Given the description of an element on the screen output the (x, y) to click on. 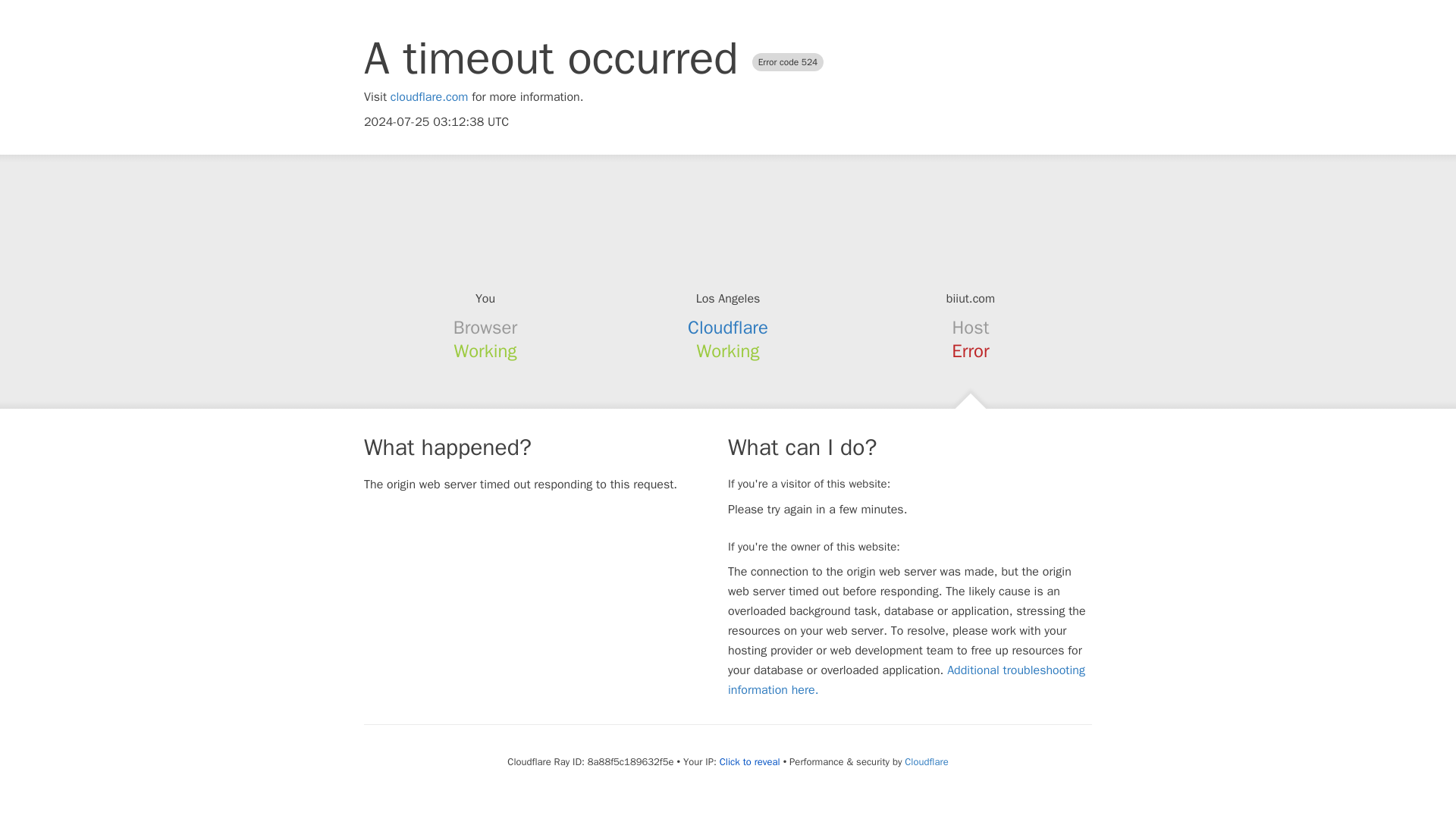
Cloudflare (925, 761)
Cloudflare (727, 327)
cloudflare.com (429, 96)
Click to reveal (749, 762)
Additional troubleshooting information here. (906, 679)
